Given the description of an element on the screen output the (x, y) to click on. 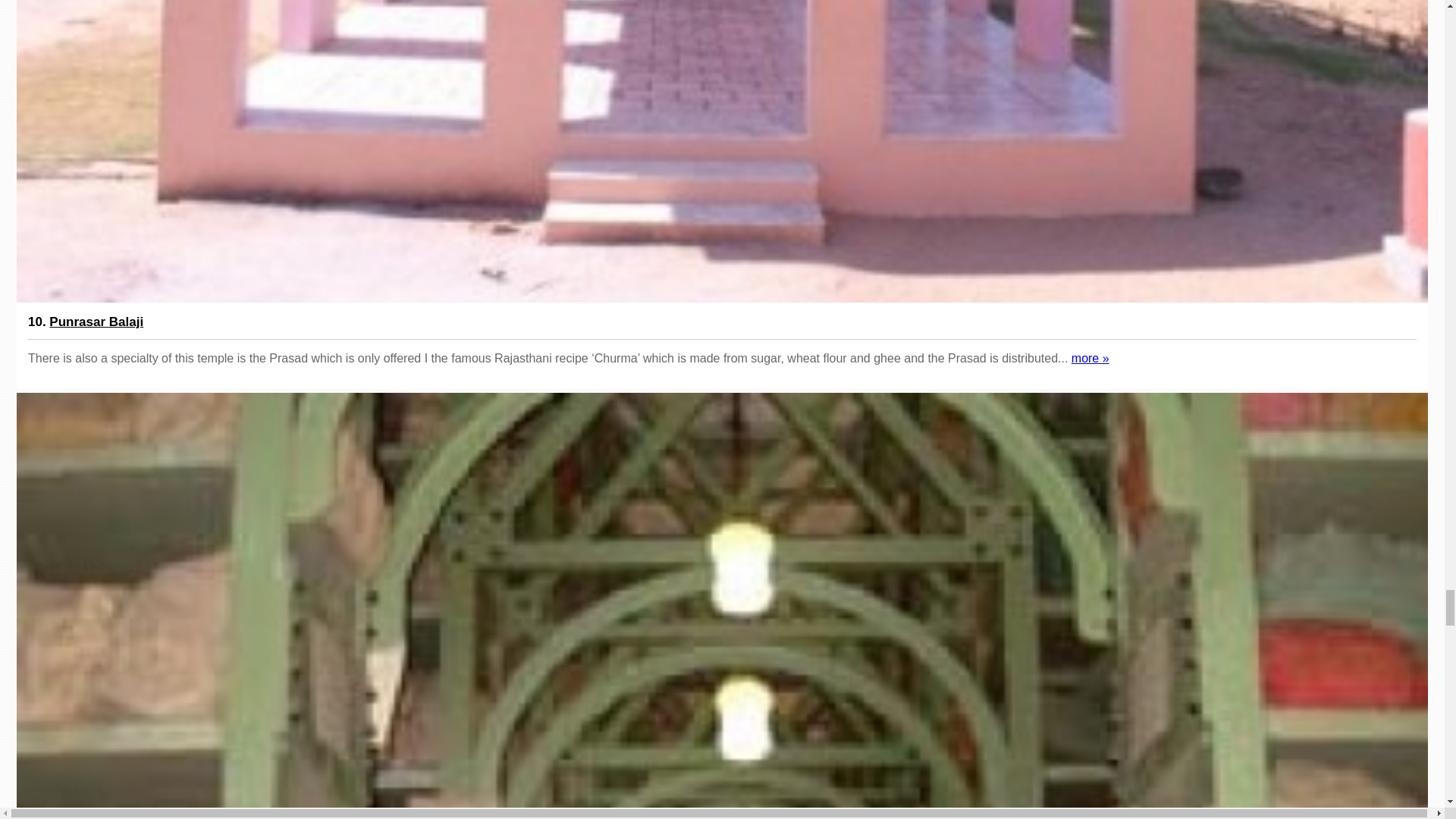
Punrasar Balaji (1090, 358)
